Given the description of an element on the screen output the (x, y) to click on. 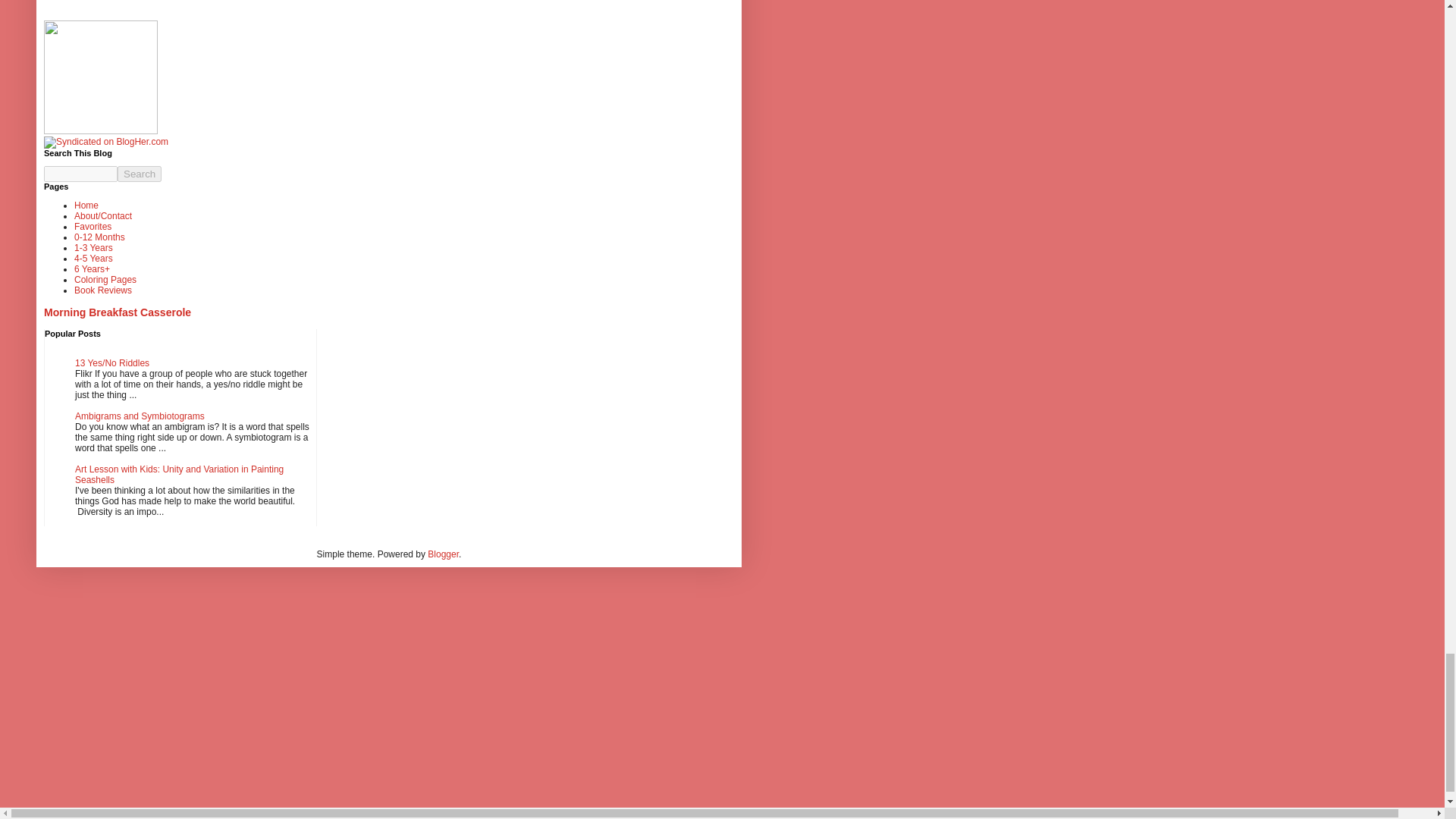
Search (139, 173)
Search (139, 173)
